Given the description of an element on the screen output the (x, y) to click on. 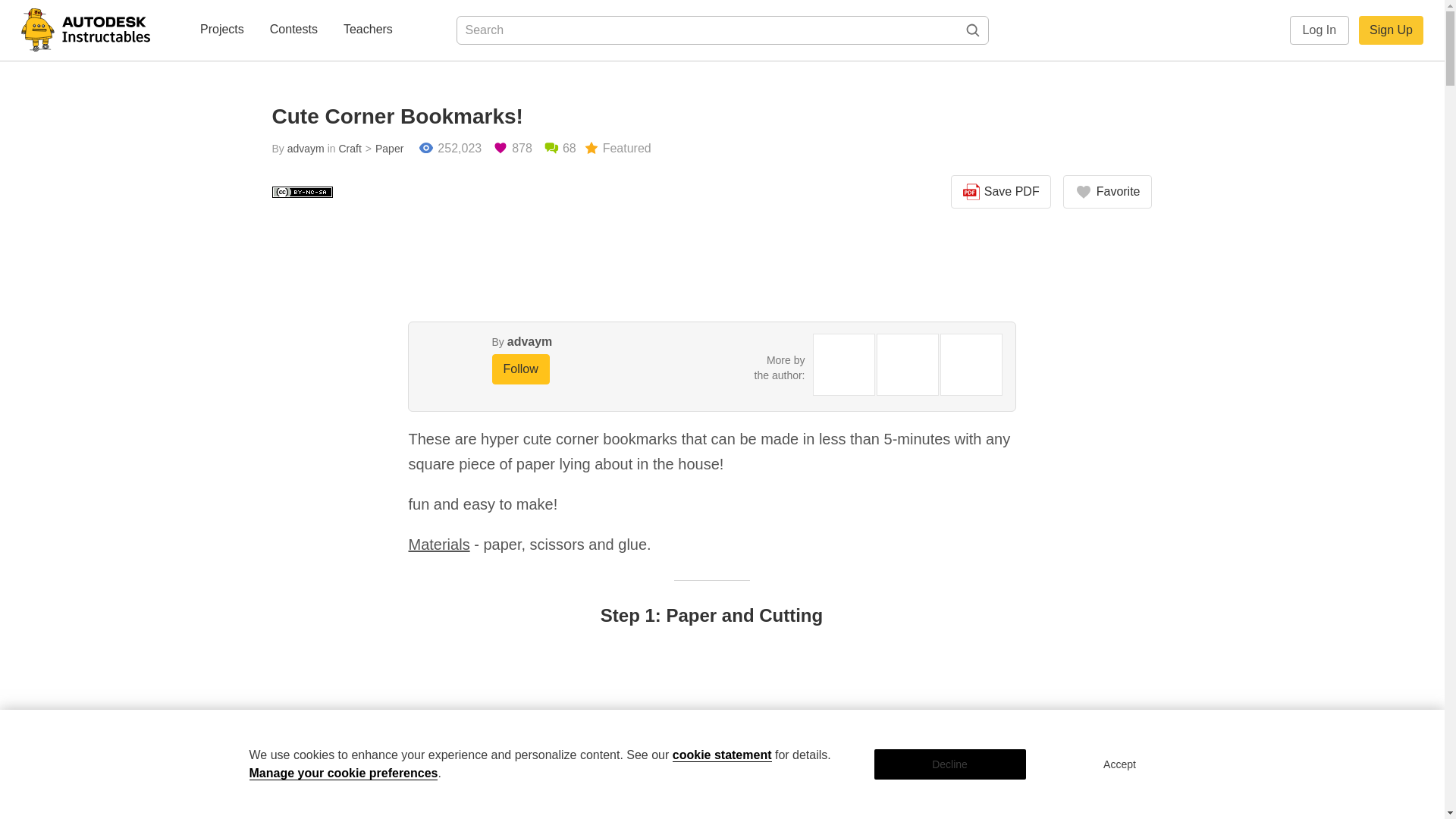
Projects (221, 30)
Follow (520, 368)
Contests (293, 30)
More by the author: (779, 366)
Save PDF (1000, 191)
Sign Up (1390, 30)
advaym (305, 148)
Craft (349, 148)
Paper (382, 148)
advaym (529, 341)
Log In (1319, 30)
Teachers (368, 30)
68 (559, 148)
Favorite (1106, 191)
